Given the description of an element on the screen output the (x, y) to click on. 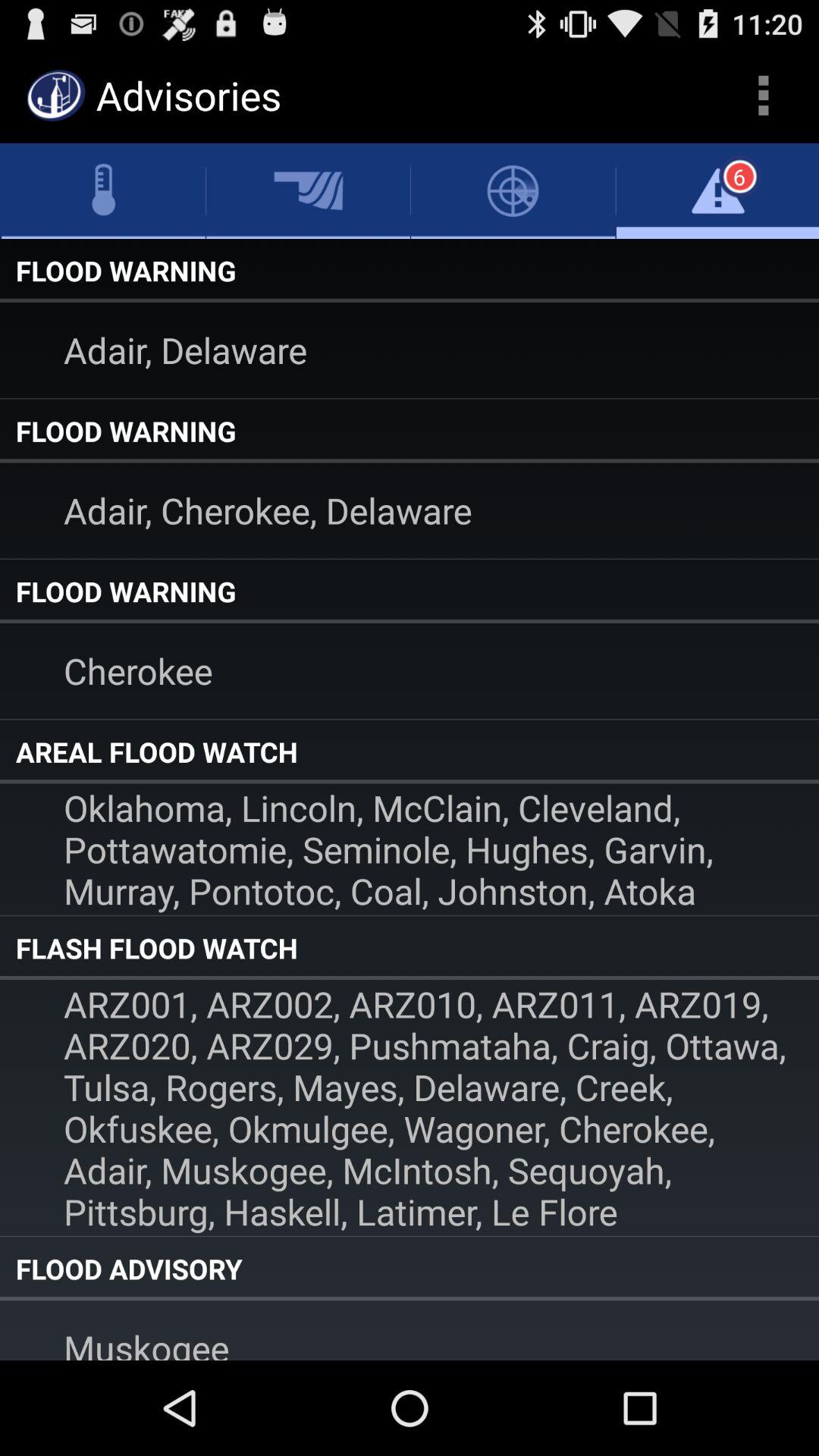
jump to the muskogee app (409, 1330)
